Given the description of an element on the screen output the (x, y) to click on. 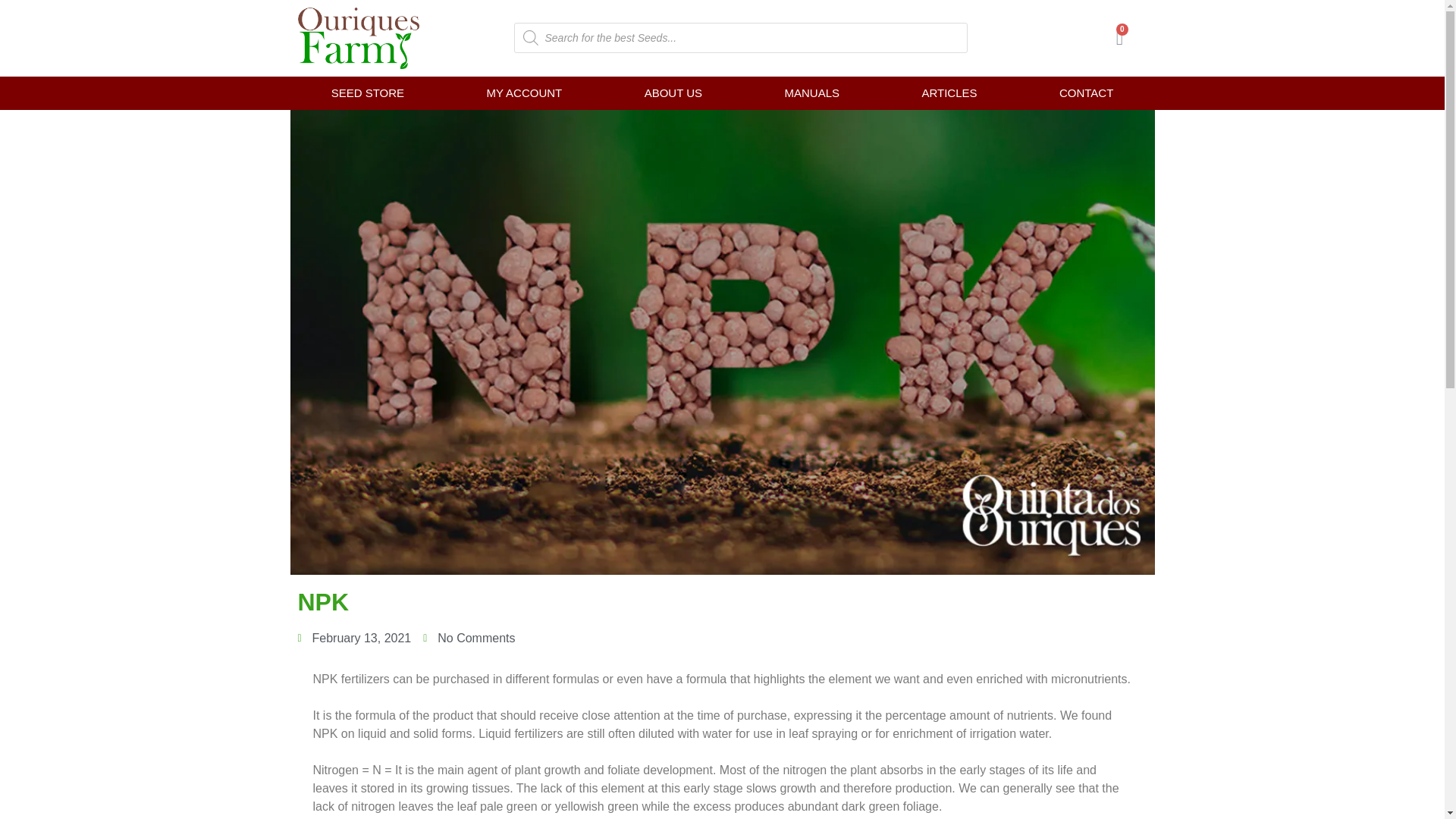
ABOUT US (672, 92)
February 13, 2021 (353, 638)
No Comments (469, 638)
CONTACT (1085, 92)
MY ACCOUNT (523, 92)
MANUALS (811, 92)
ARTICLES (948, 92)
SEED STORE (367, 92)
